Given the description of an element on the screen output the (x, y) to click on. 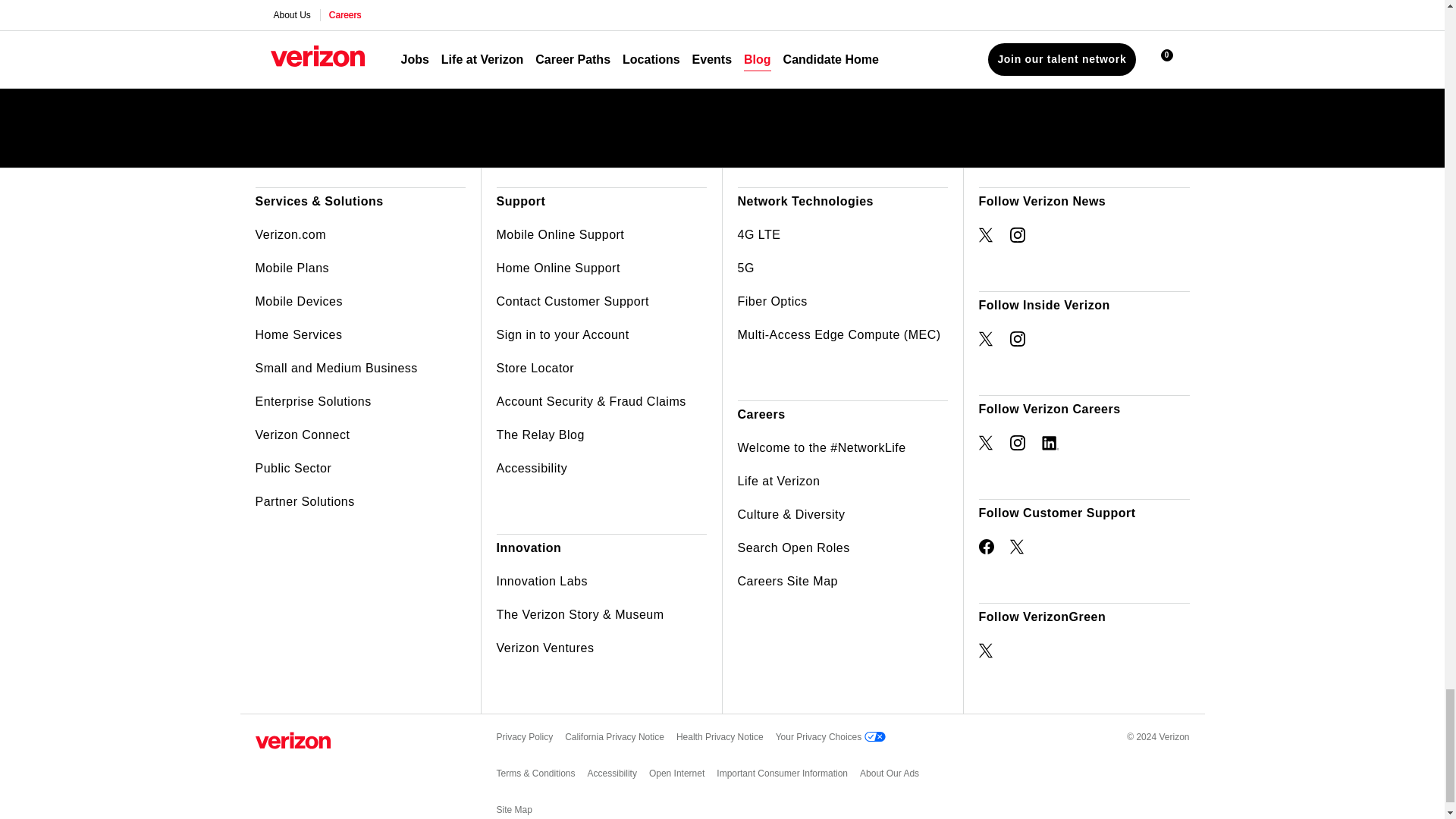
Opens New Window (1017, 234)
Opens New Window (985, 546)
Opens New Window (1017, 546)
Opens New Window (985, 650)
Opens New Window (1049, 442)
Opens New Window (1017, 338)
Opens New Window (985, 338)
Opens New Window (985, 442)
Verizon Home Page (292, 740)
Opens New Window (985, 234)
Opens New Window (1017, 442)
